Given the description of an element on the screen output the (x, y) to click on. 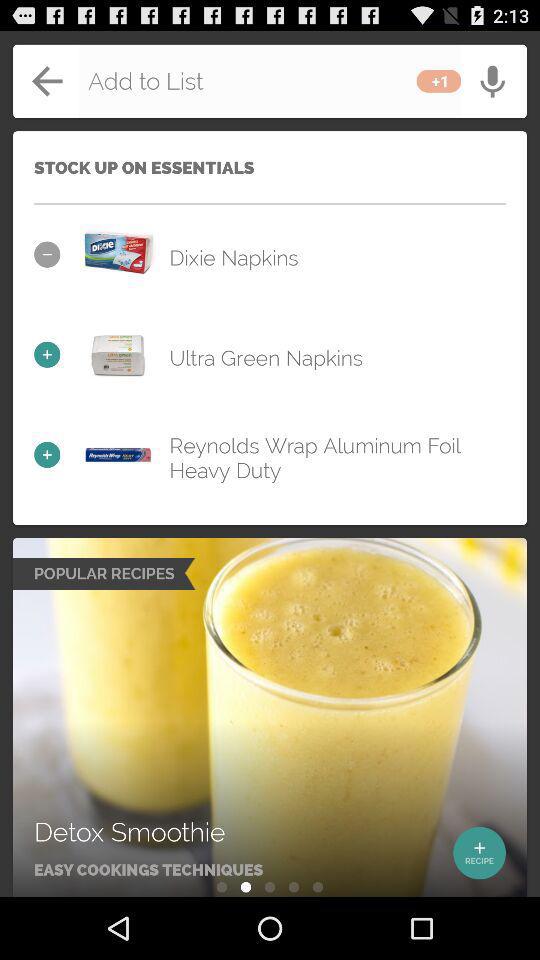
go to recipes (269, 717)
